Given the description of an element on the screen output the (x, y) to click on. 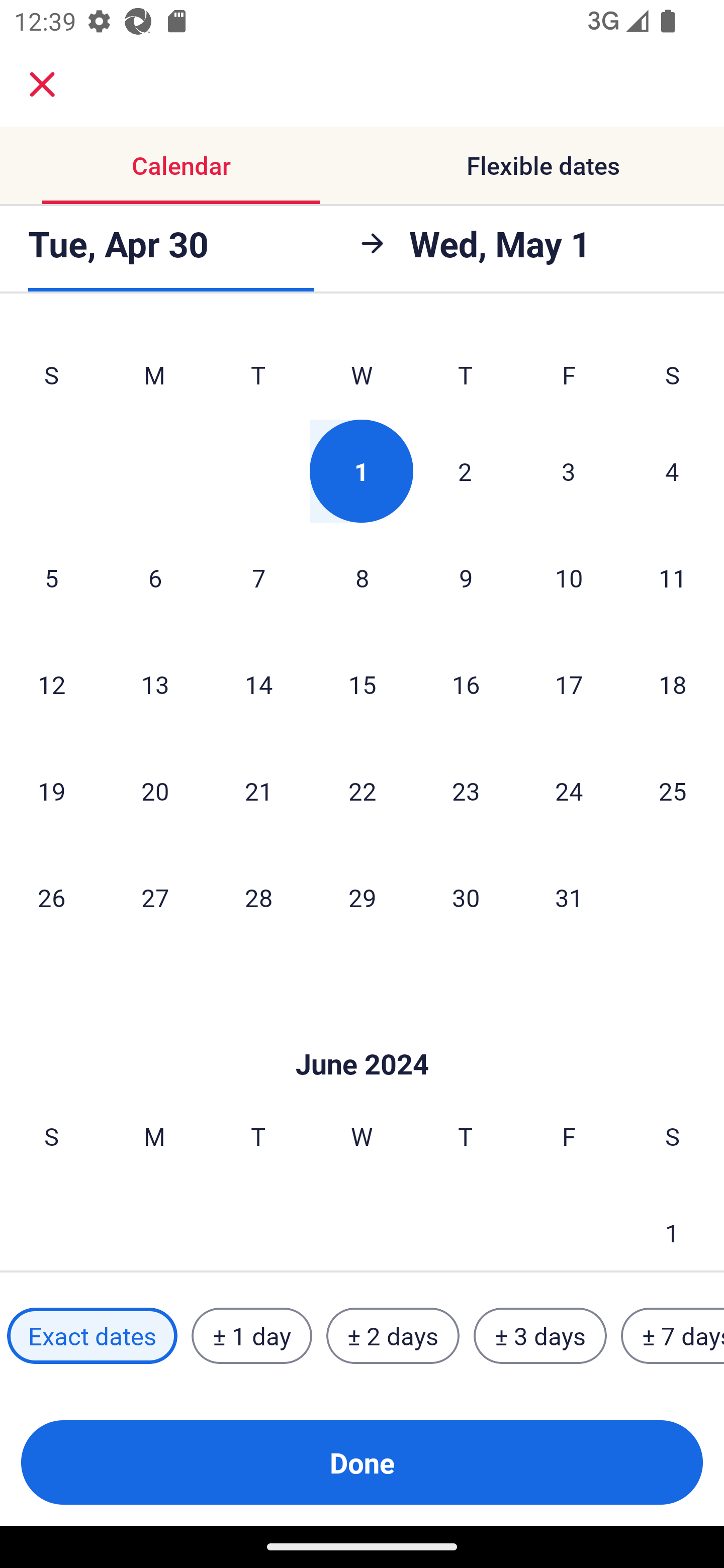
close. (42, 84)
Flexible dates (542, 164)
2 Thursday, May 2, 2024 (464, 471)
3 Friday, May 3, 2024 (568, 471)
4 Saturday, May 4, 2024 (672, 471)
5 Sunday, May 5, 2024 (51, 577)
6 Monday, May 6, 2024 (155, 577)
7 Tuesday, May 7, 2024 (258, 577)
8 Wednesday, May 8, 2024 (362, 577)
9 Thursday, May 9, 2024 (465, 577)
10 Friday, May 10, 2024 (569, 577)
11 Saturday, May 11, 2024 (672, 577)
12 Sunday, May 12, 2024 (51, 684)
13 Monday, May 13, 2024 (155, 684)
14 Tuesday, May 14, 2024 (258, 684)
15 Wednesday, May 15, 2024 (362, 684)
16 Thursday, May 16, 2024 (465, 684)
17 Friday, May 17, 2024 (569, 684)
18 Saturday, May 18, 2024 (672, 684)
19 Sunday, May 19, 2024 (51, 790)
20 Monday, May 20, 2024 (155, 790)
21 Tuesday, May 21, 2024 (258, 790)
22 Wednesday, May 22, 2024 (362, 790)
23 Thursday, May 23, 2024 (465, 790)
24 Friday, May 24, 2024 (569, 790)
25 Saturday, May 25, 2024 (672, 790)
26 Sunday, May 26, 2024 (51, 896)
27 Monday, May 27, 2024 (155, 896)
28 Tuesday, May 28, 2024 (258, 896)
29 Wednesday, May 29, 2024 (362, 896)
30 Thursday, May 30, 2024 (465, 896)
31 Friday, May 31, 2024 (569, 896)
Skip to Done (362, 1034)
1 Saturday, June 1, 2024 (672, 1225)
Exact dates (92, 1335)
± 1 day (251, 1335)
± 2 days (392, 1335)
± 3 days (539, 1335)
± 7 days (672, 1335)
Done (361, 1462)
